Given the description of an element on the screen output the (x, y) to click on. 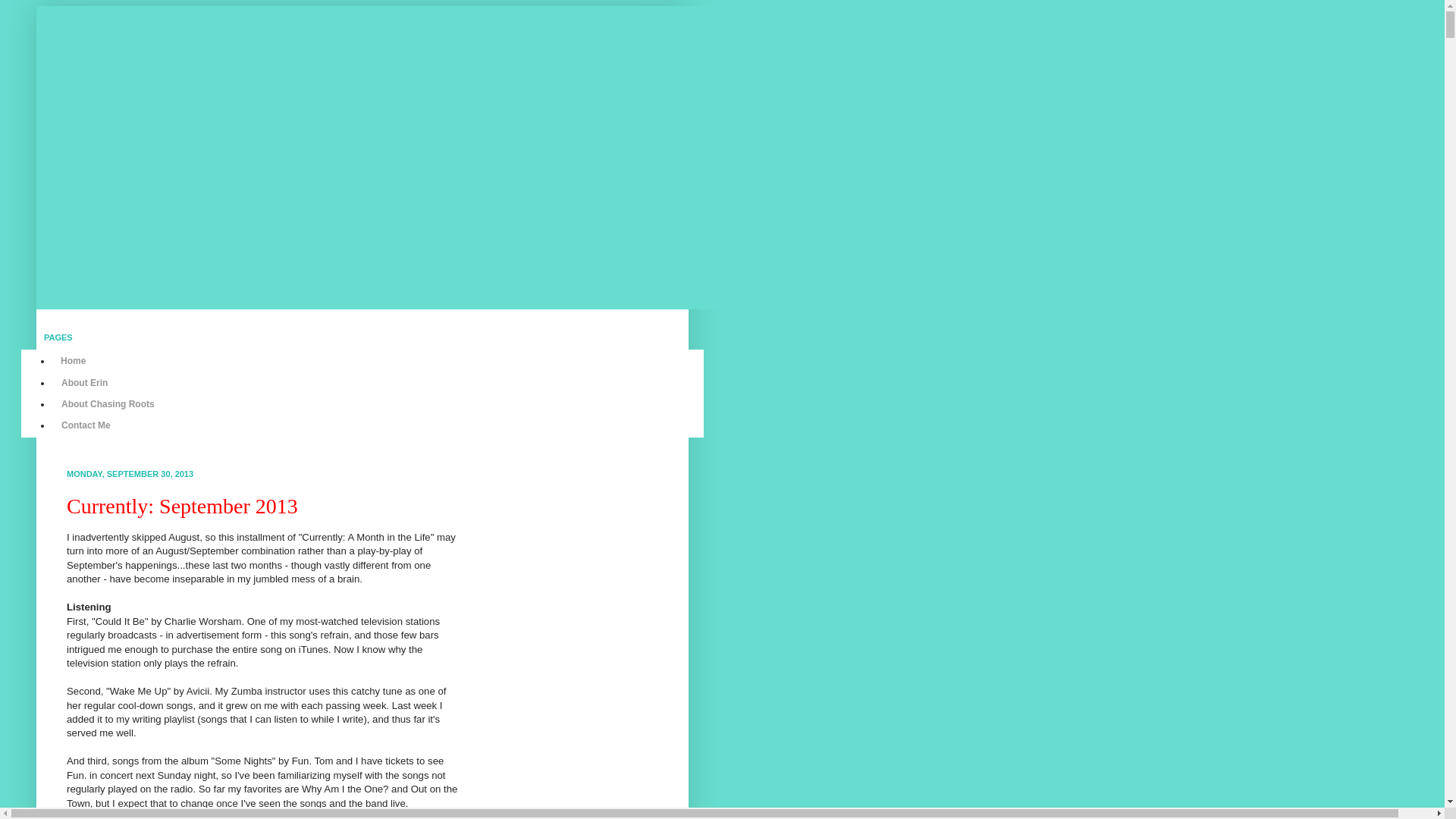
Contact Me (85, 424)
Home (73, 360)
Currently: September 2013 (182, 505)
About Chasing Roots (107, 403)
About Erin (83, 382)
